Given the description of an element on the screen output the (x, y) to click on. 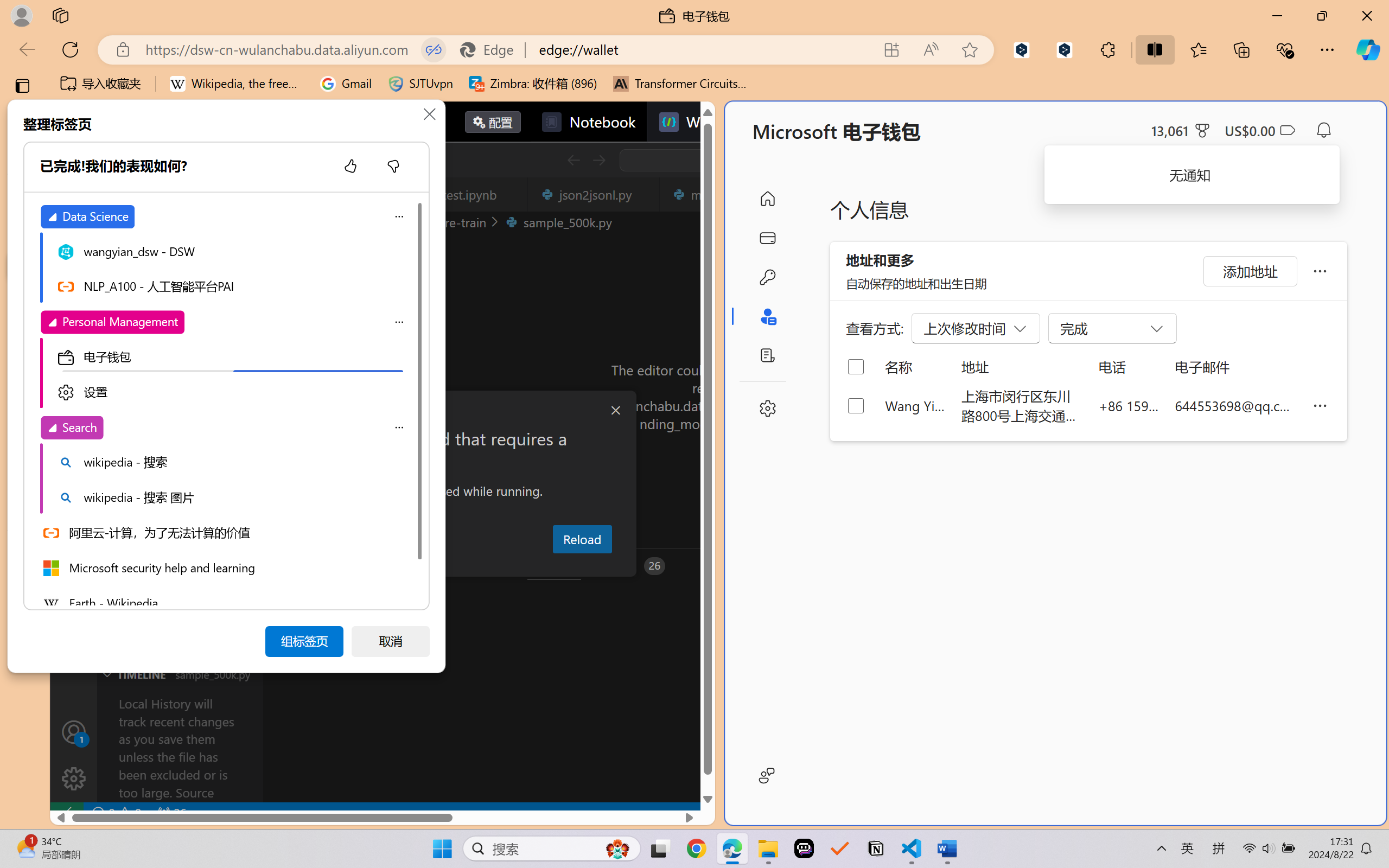
Ports - 26 forwarded ports (632, 565)
WebIDE (698, 121)
644553698@qq.com (1235, 405)
Tab actions (644, 194)
